Given the description of an element on the screen output the (x, y) to click on. 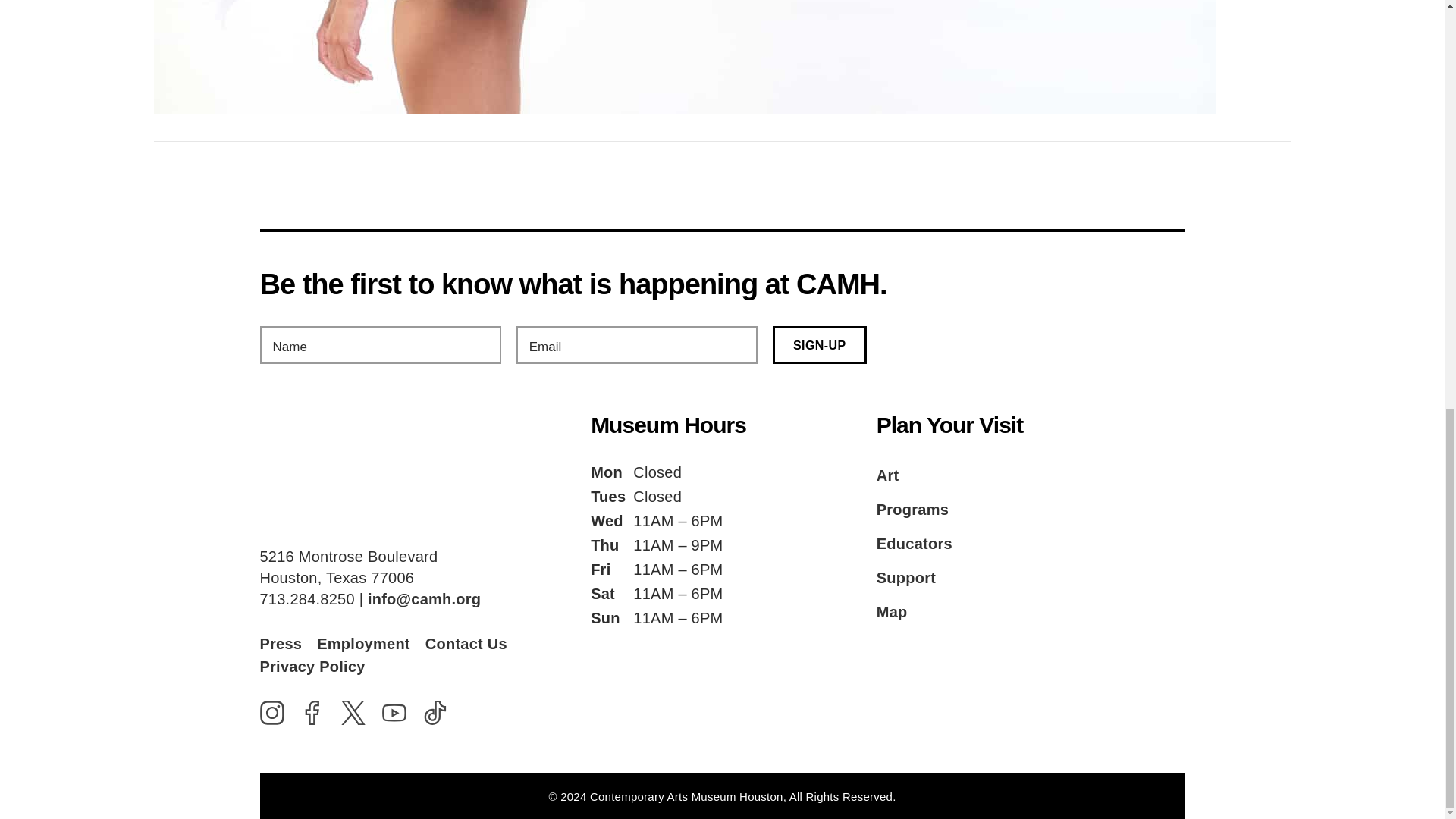
facebook (311, 712)
twitter (352, 712)
tiktok.com (434, 712)
instagram (271, 712)
youtube (393, 712)
